Given the description of an element on the screen output the (x, y) to click on. 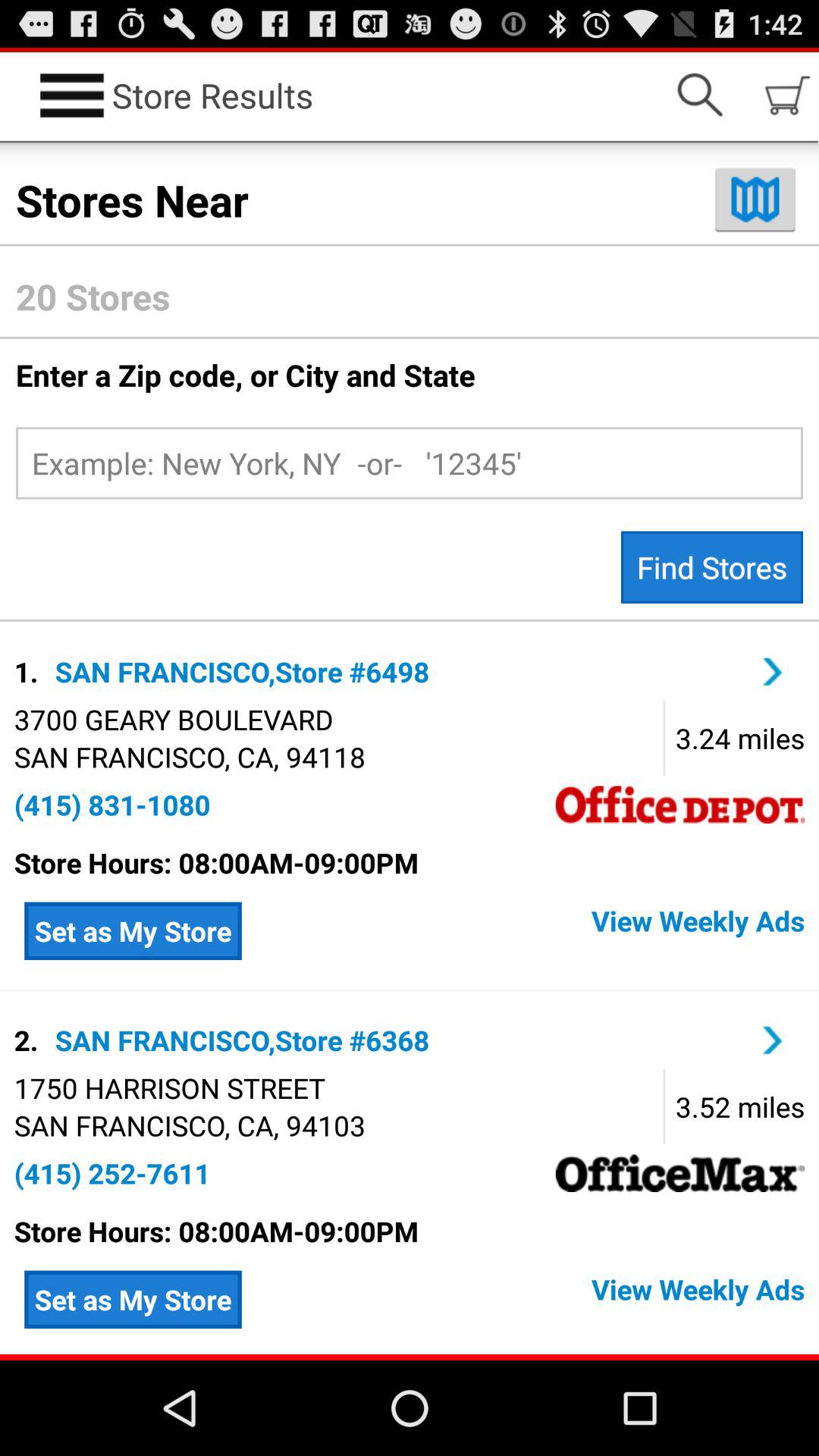
tap the app to the right of the store results item (699, 95)
